Given the description of an element on the screen output the (x, y) to click on. 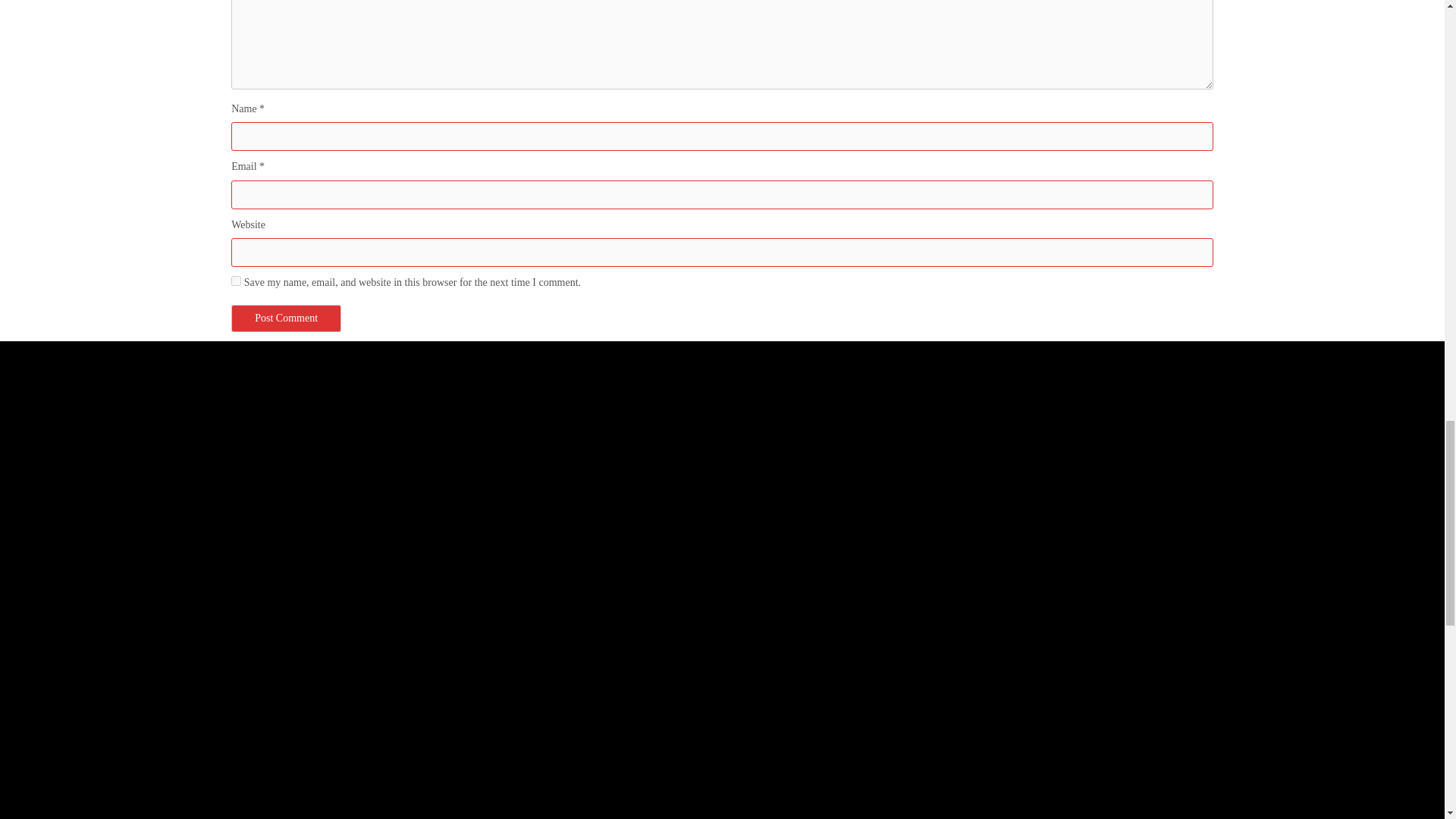
yes (236, 280)
Post Comment (285, 318)
